Given the description of an element on the screen output the (x, y) to click on. 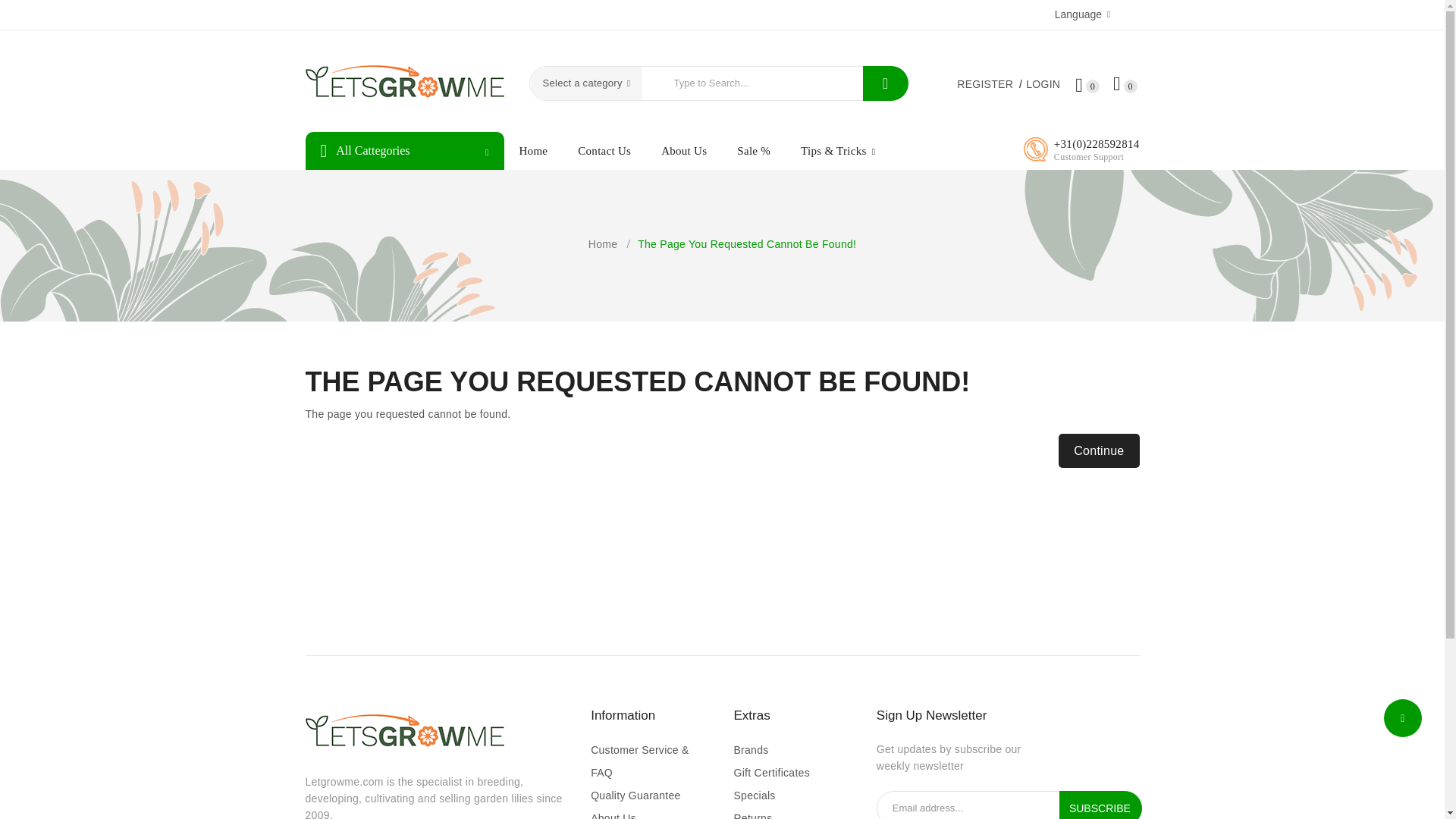
Language  (1082, 14)
REGISTER (989, 84)
LOGIN (1042, 84)
